Given the description of an element on the screen output the (x, y) to click on. 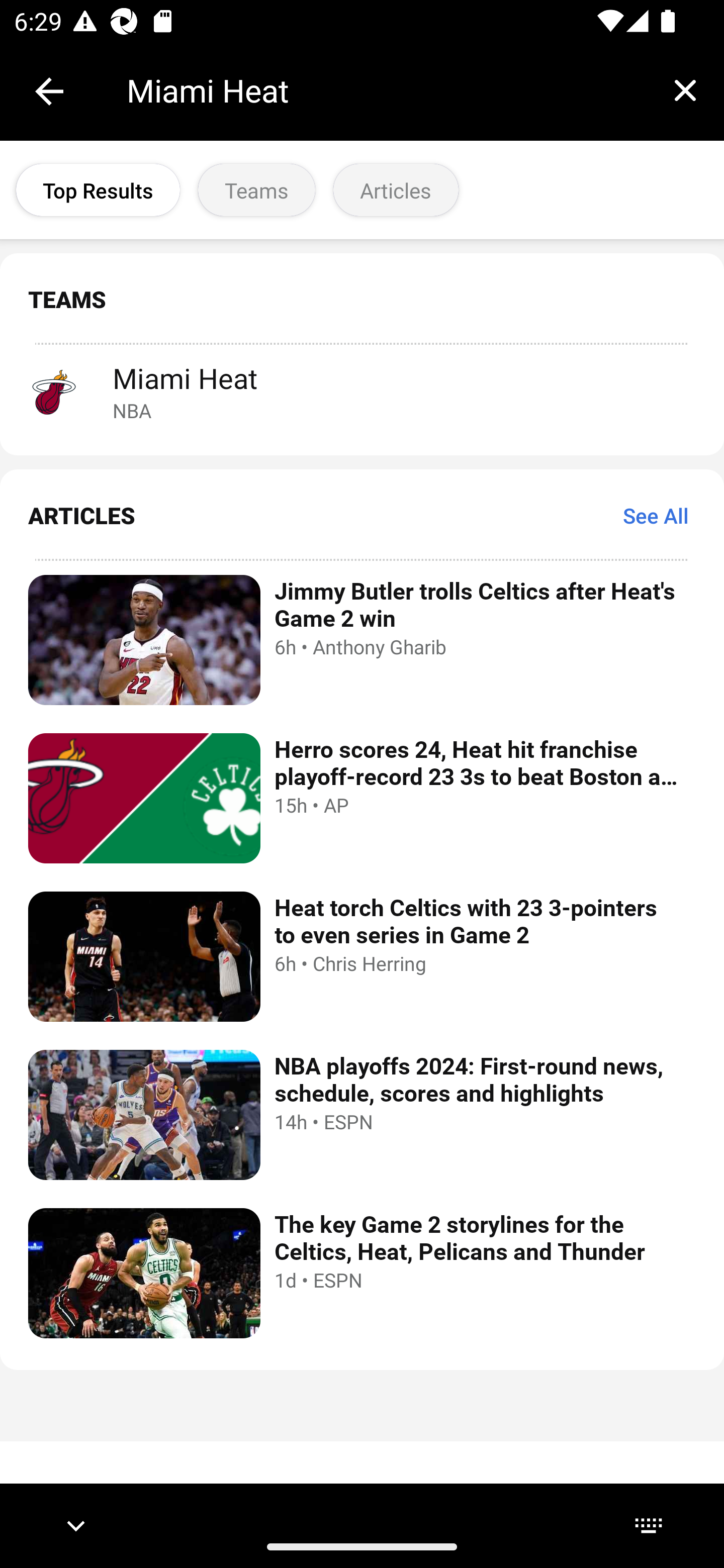
Collapse (49, 91)
Clear query (685, 89)
Miami Heat (386, 90)
Top Results (97, 190)
Teams (256, 190)
Articles (395, 190)
Miami Heat : NBA Miami Heat NBA (362, 390)
See All (655, 514)
